Given the description of an element on the screen output the (x, y) to click on. 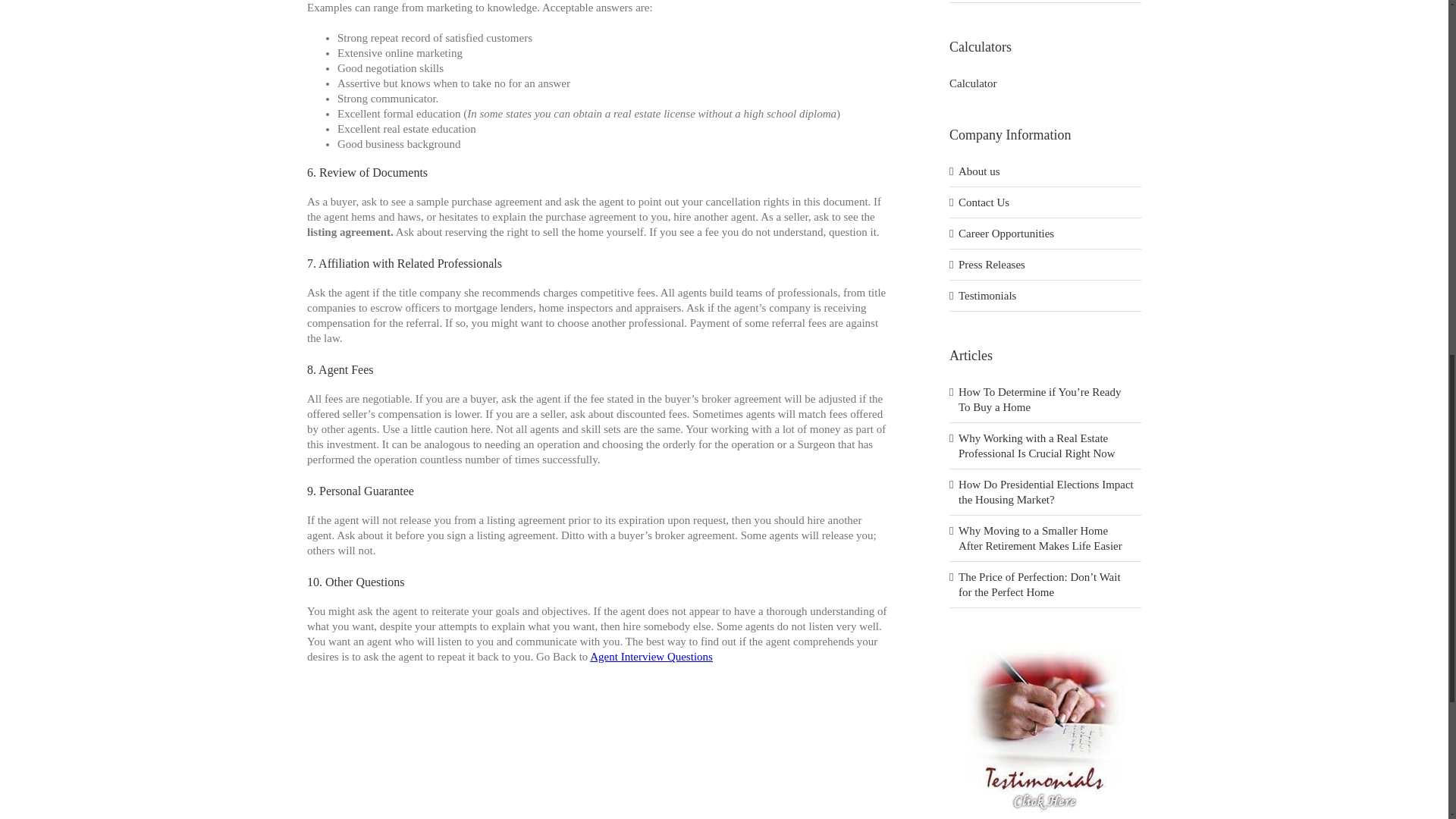
Luxury Valley Homes Testimonials (1046, 649)
Questions to Ask a Real Estate Agent (651, 656)
calculator (972, 82)
Agent Interview Questions (651, 656)
